Given the description of an element on the screen output the (x, y) to click on. 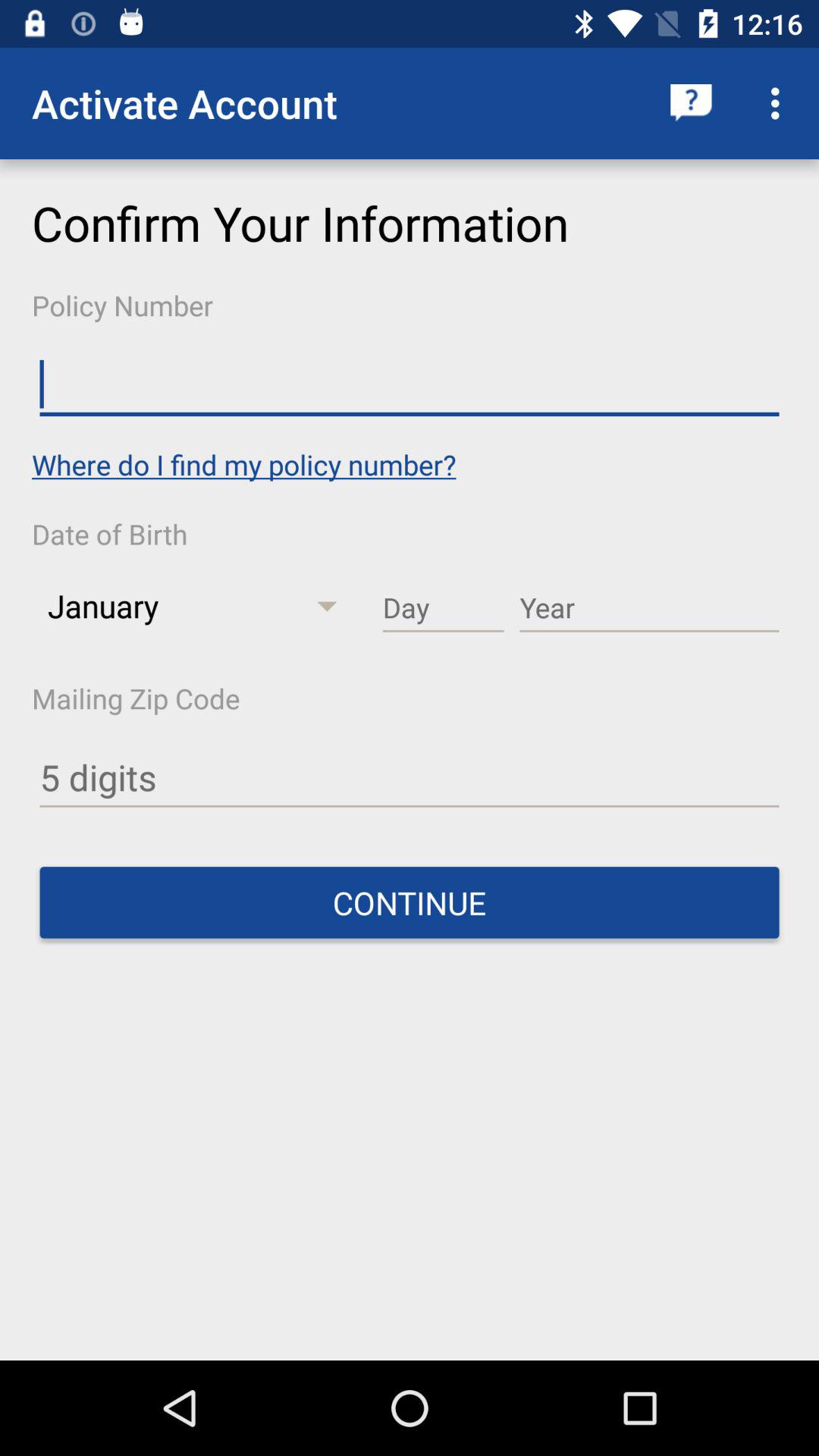
swipe until continue item (409, 902)
